Given the description of an element on the screen output the (x, y) to click on. 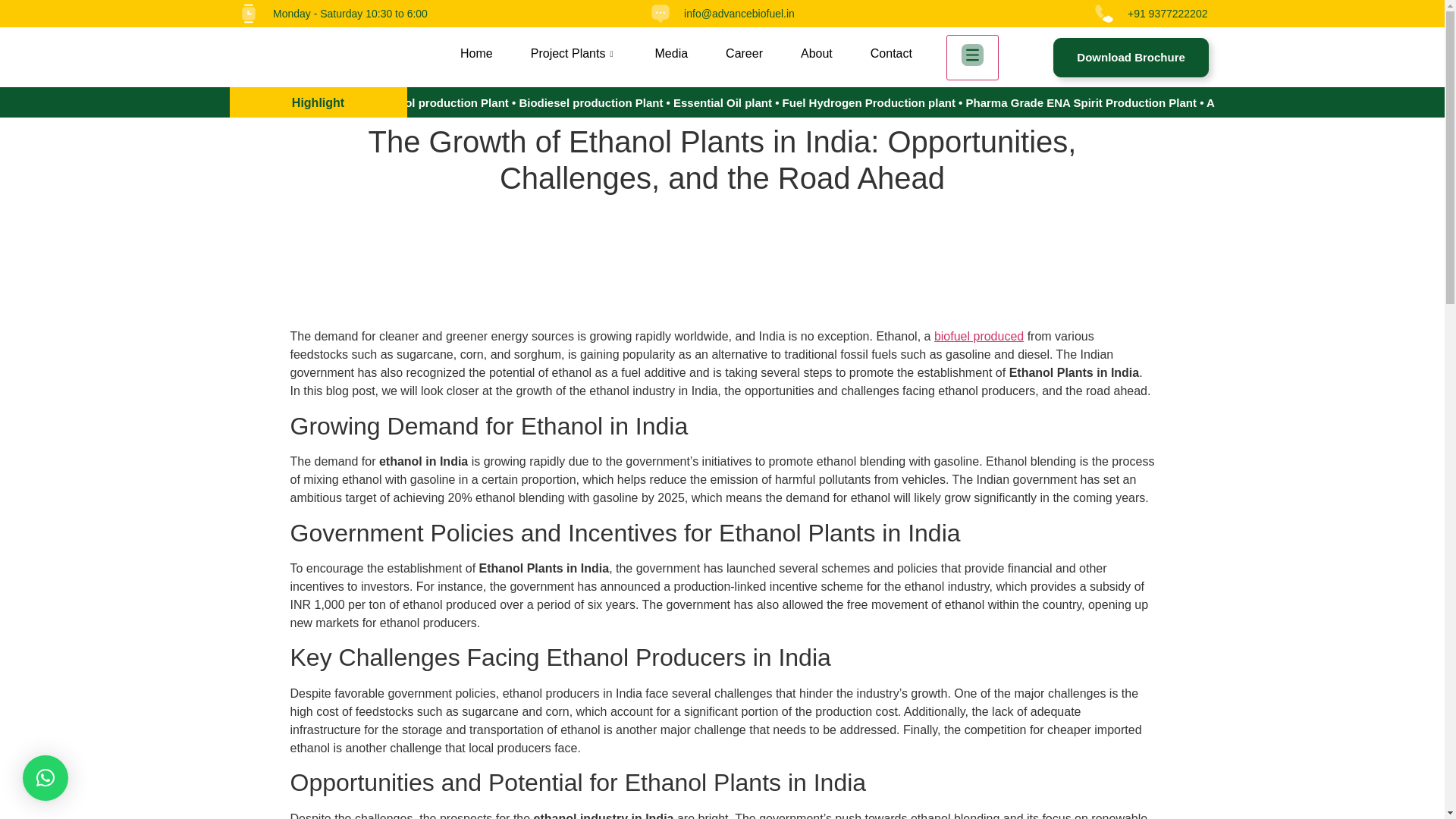
Project Plants (573, 54)
Download Brochure (1130, 56)
Home (475, 54)
Career (744, 54)
Contact (891, 54)
biofuel produced (978, 336)
About (816, 54)
Media (670, 54)
